Given the description of an element on the screen output the (x, y) to click on. 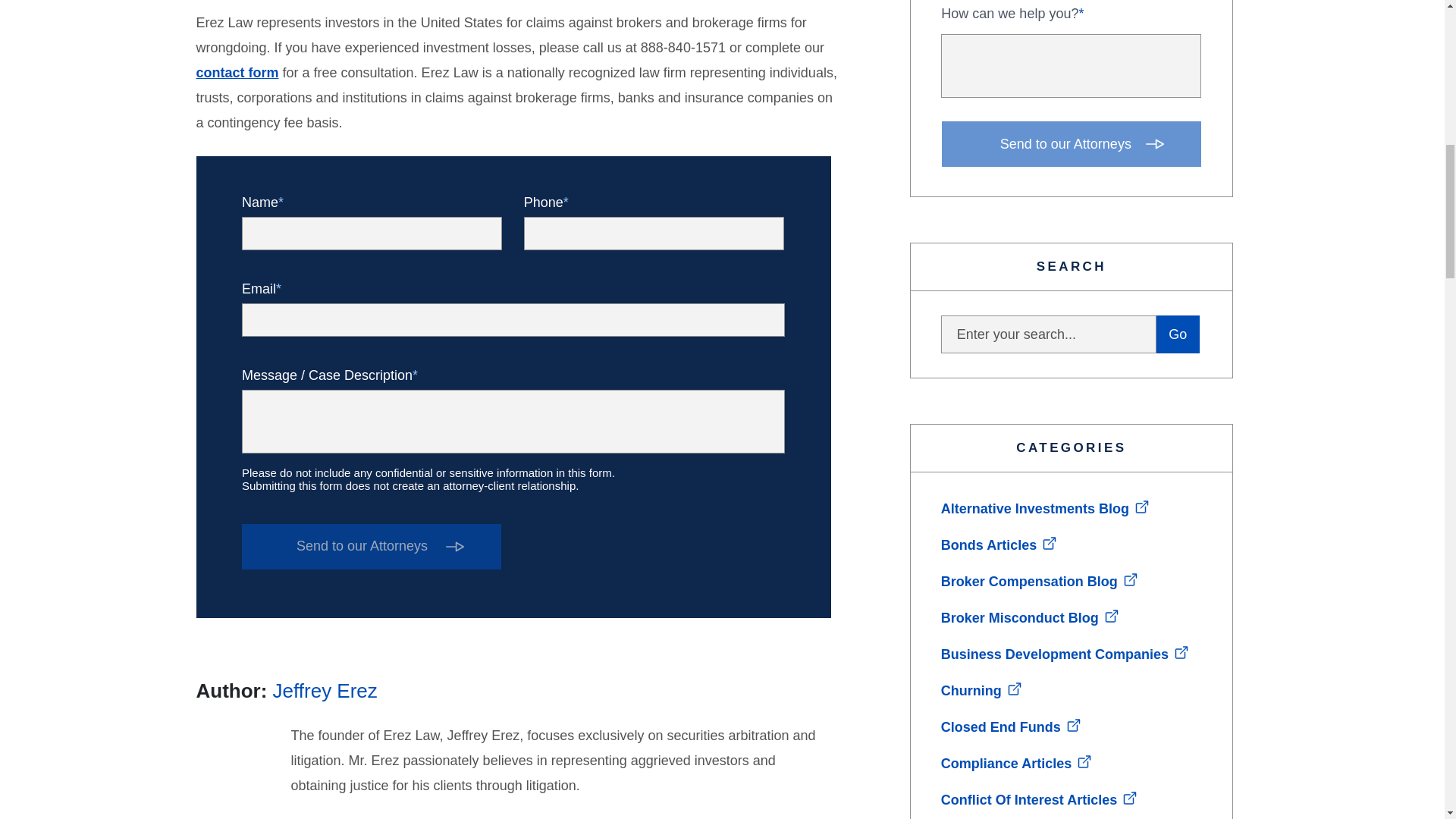
Go (1177, 333)
Send to our Attorneys (370, 546)
Send to our Attorneys (1071, 144)
